Given the description of an element on the screen output the (x, y) to click on. 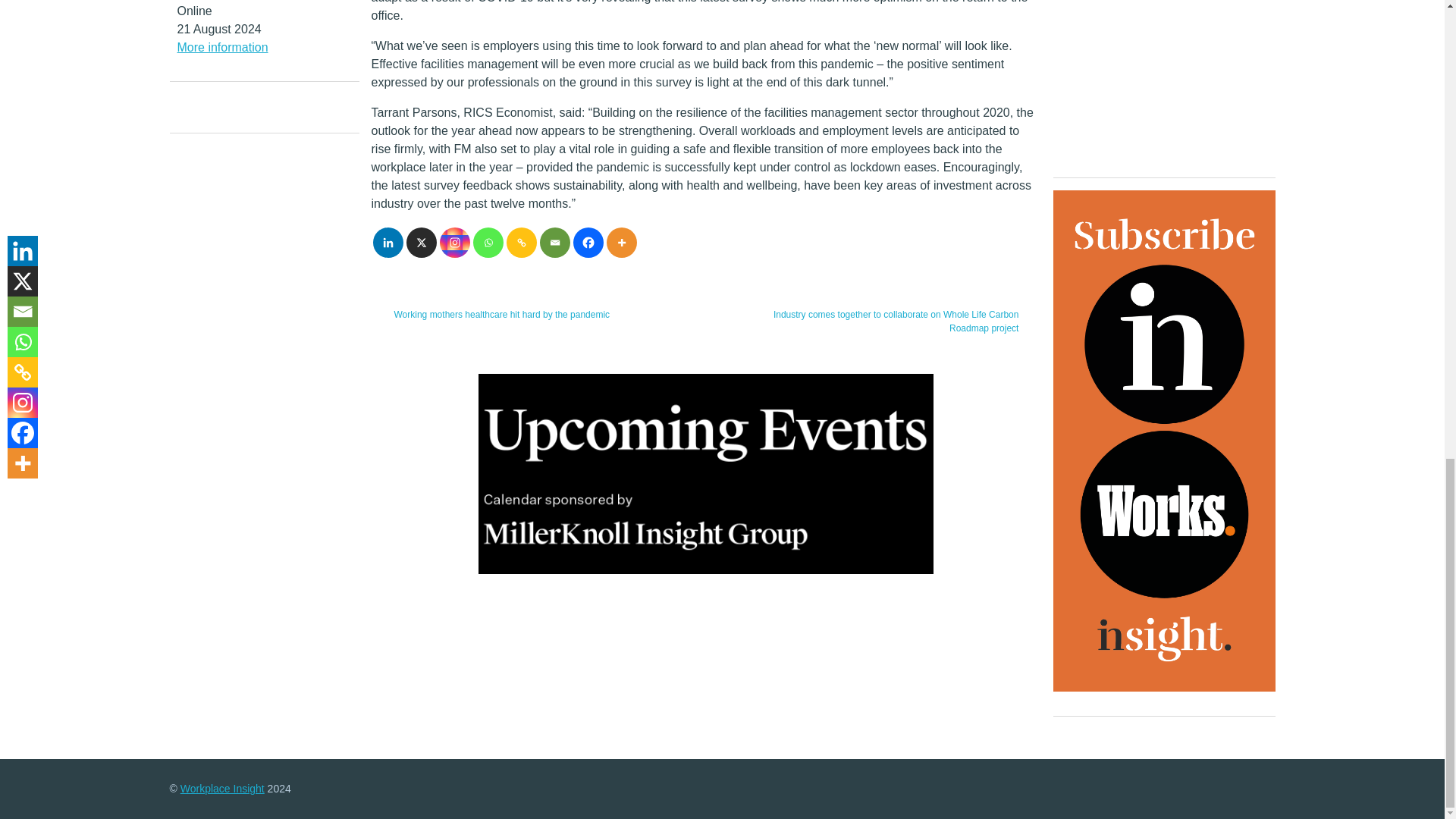
More (622, 242)
Copy Link (521, 242)
Instagram (454, 242)
X (421, 242)
Facebook (588, 242)
Whatsapp (488, 242)
Email (555, 242)
Linkedin (387, 242)
